Given the description of an element on the screen output the (x, y) to click on. 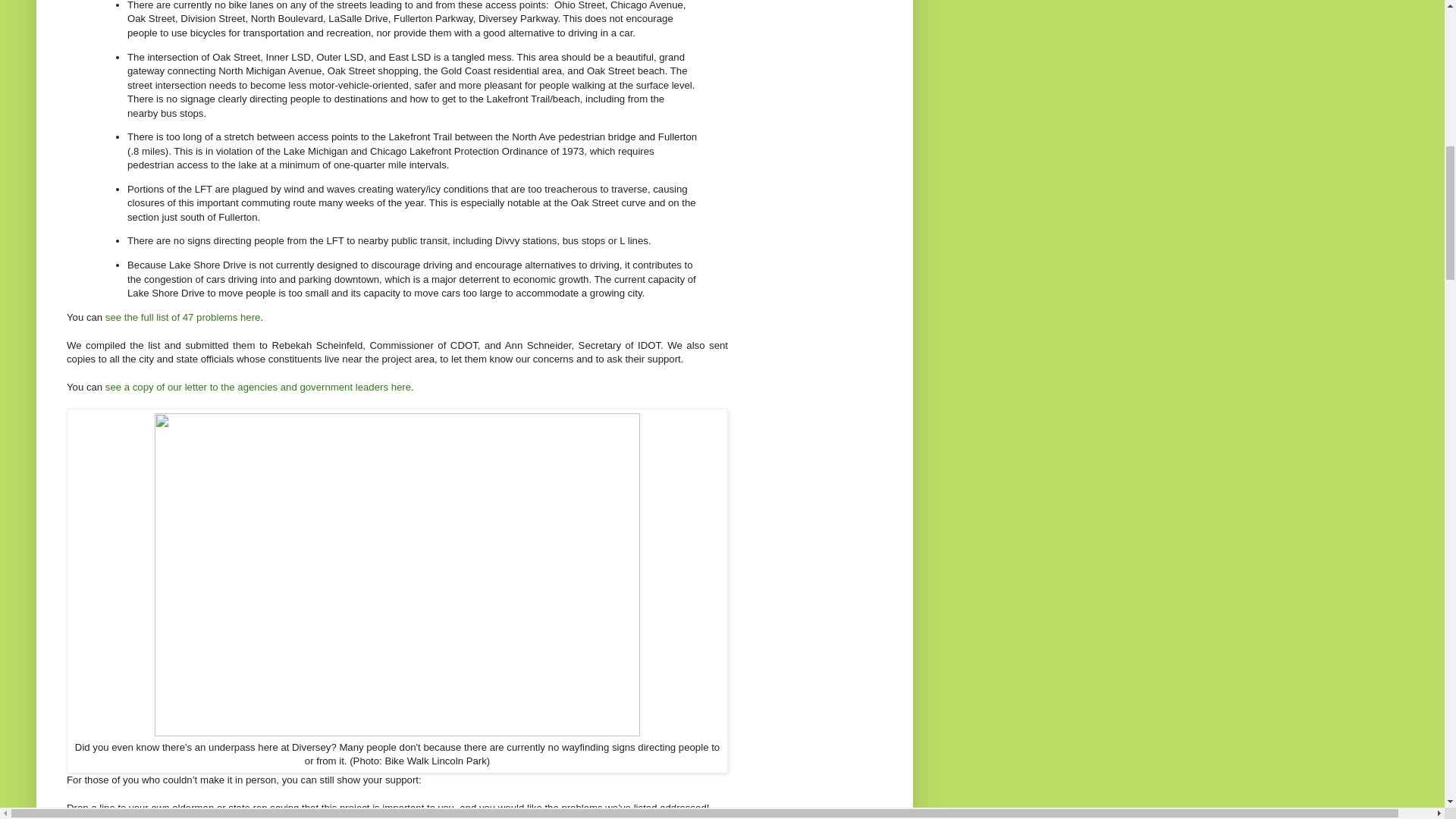
see the full list of 47 problems here (182, 317)
